Given the description of an element on the screen output the (x, y) to click on. 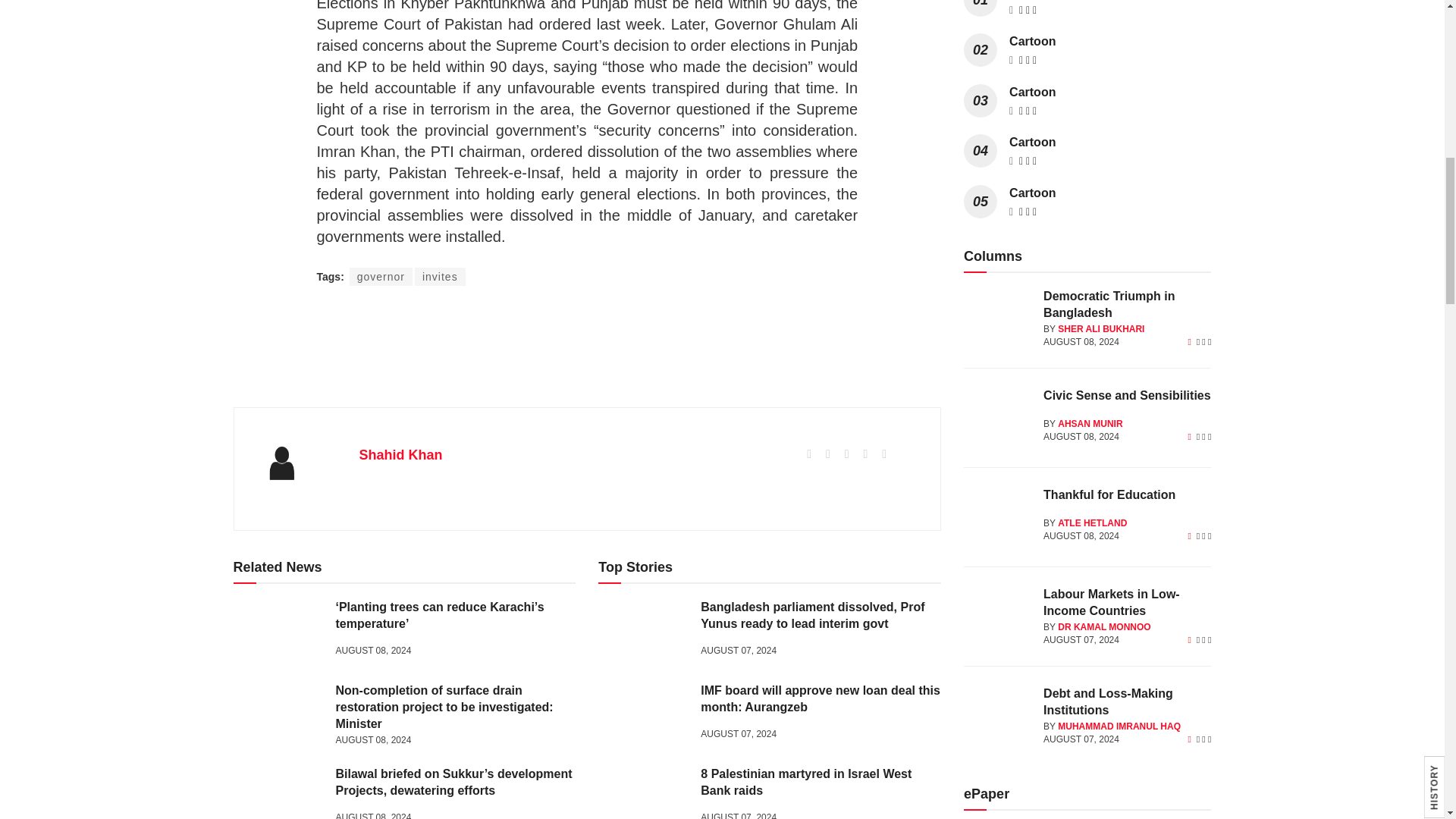
8 Palestinian martyred in Israel West Bank raids (643, 792)
IMF board will approve new loan deal this month: Aurangzeb (643, 714)
